Given the description of an element on the screen output the (x, y) to click on. 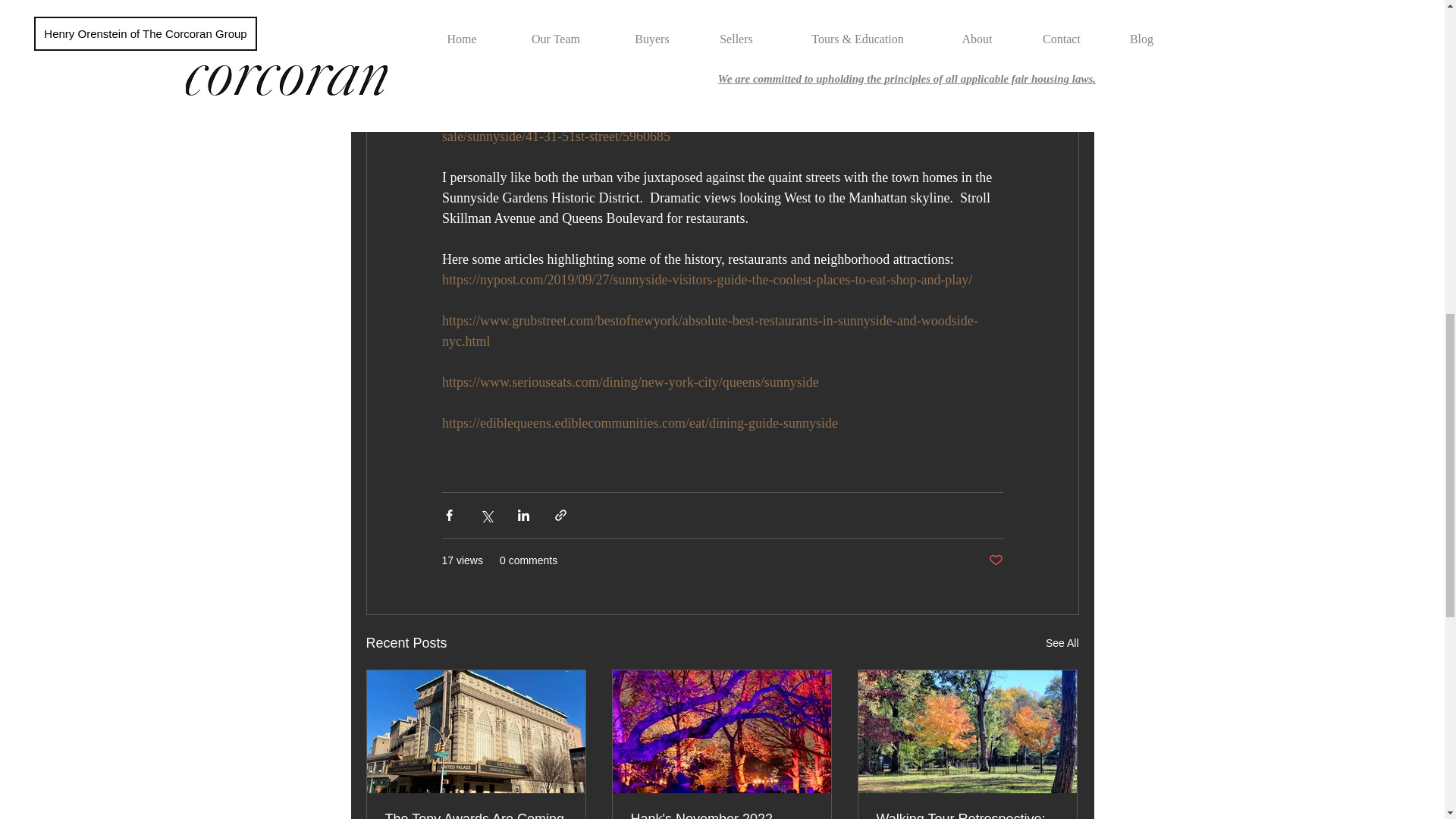
Walking Tour Retrospective: Van Cortlandt Park in The Bronx (967, 815)
See All (1061, 643)
Hank's November 2022 Newsletter (721, 815)
Post not marked as liked (995, 560)
